Given the description of an element on the screen output the (x, y) to click on. 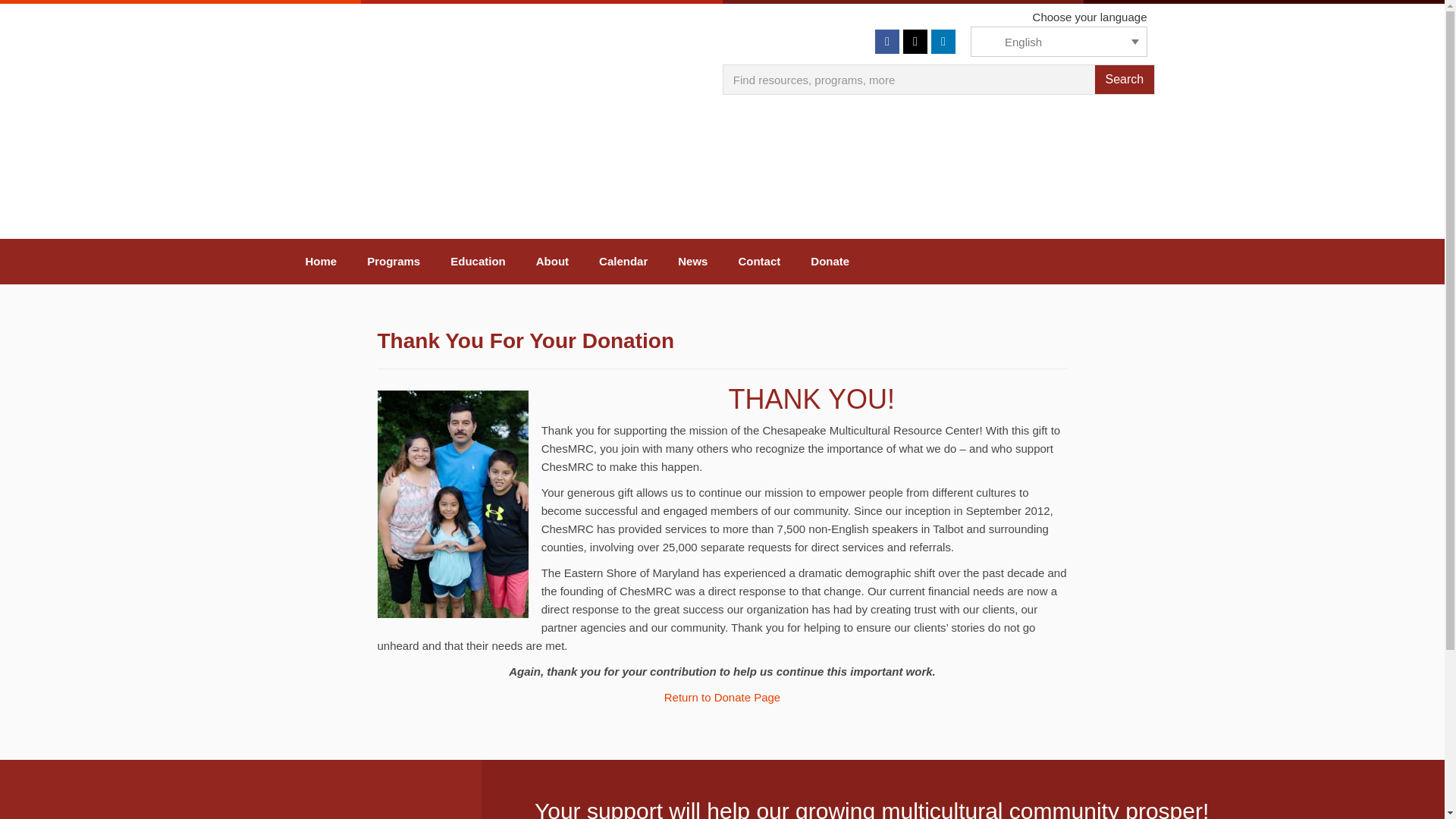
Education (478, 261)
About (552, 261)
Programs (393, 261)
News (692, 261)
Home (320, 261)
Calendar (622, 261)
Donate (829, 261)
Contact (758, 261)
Search (1123, 79)
English (1059, 41)
